Given the description of an element on the screen output the (x, y) to click on. 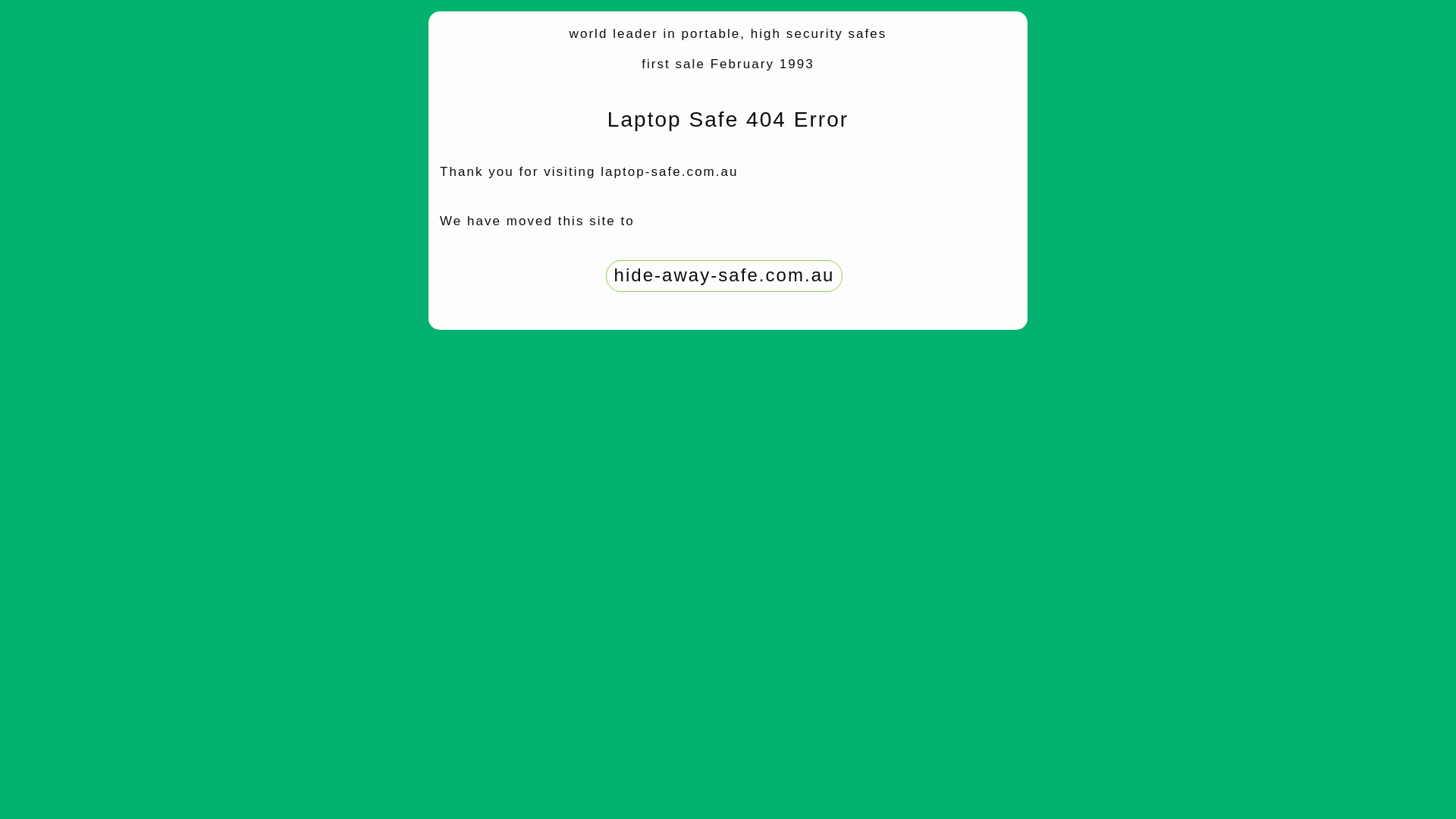
hide-away-safe.com.au Element type: text (724, 274)
